Given the description of an element on the screen output the (x, y) to click on. 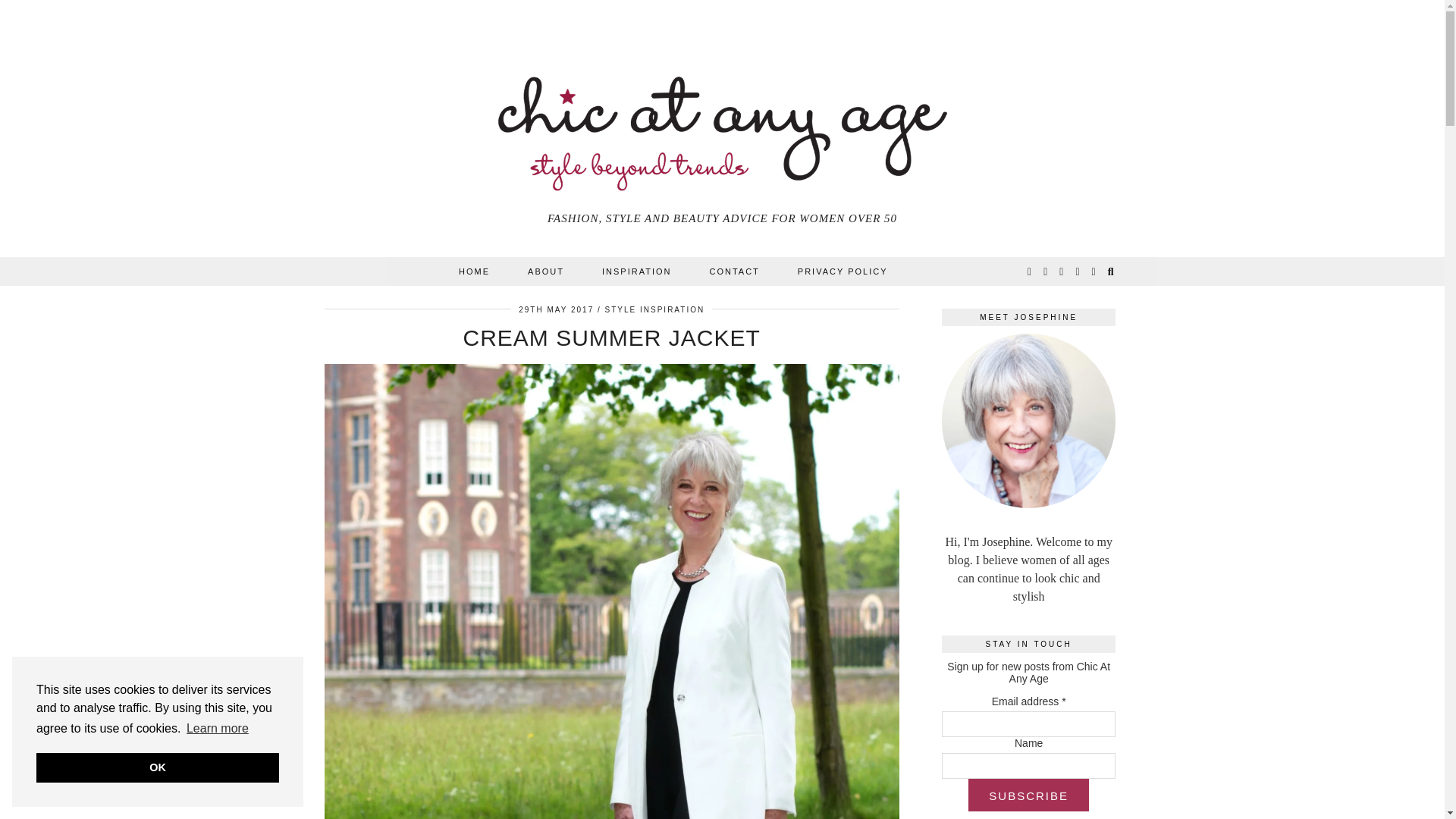
Chic at any age (722, 119)
Subscribe (1028, 794)
CONTACT (733, 271)
HOME (473, 271)
ABOUT (545, 271)
OK (157, 767)
INSPIRATION (636, 271)
Learn more (217, 728)
